Given the description of an element on the screen output the (x, y) to click on. 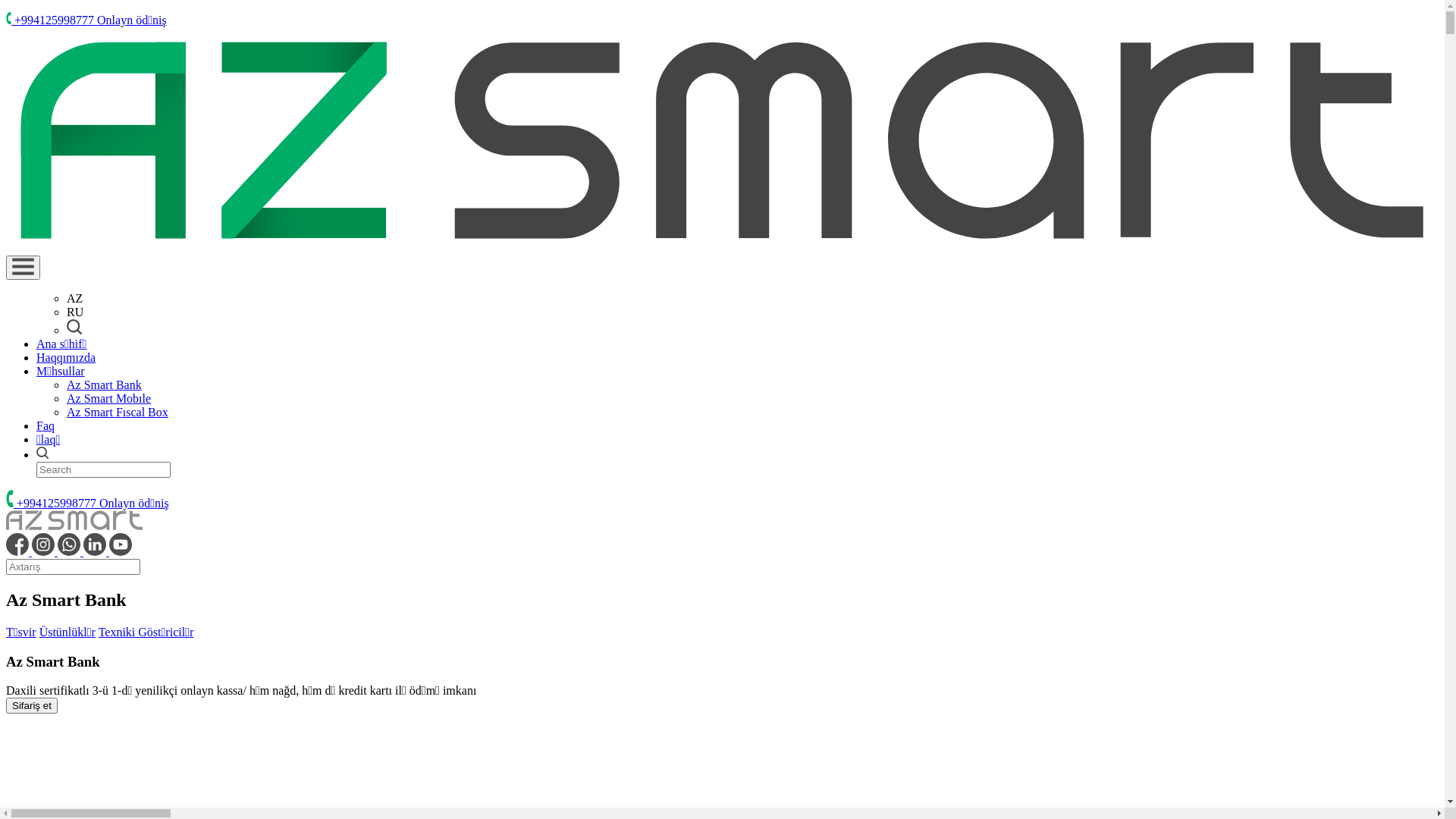
+994125998777 Element type: text (51, 19)
+994125998777 Element type: text (52, 502)
Faq Element type: text (45, 425)
Az Smart Bank Element type: text (103, 384)
AZ Element type: text (74, 297)
RU Element type: text (74, 311)
